Given the description of an element on the screen output the (x, y) to click on. 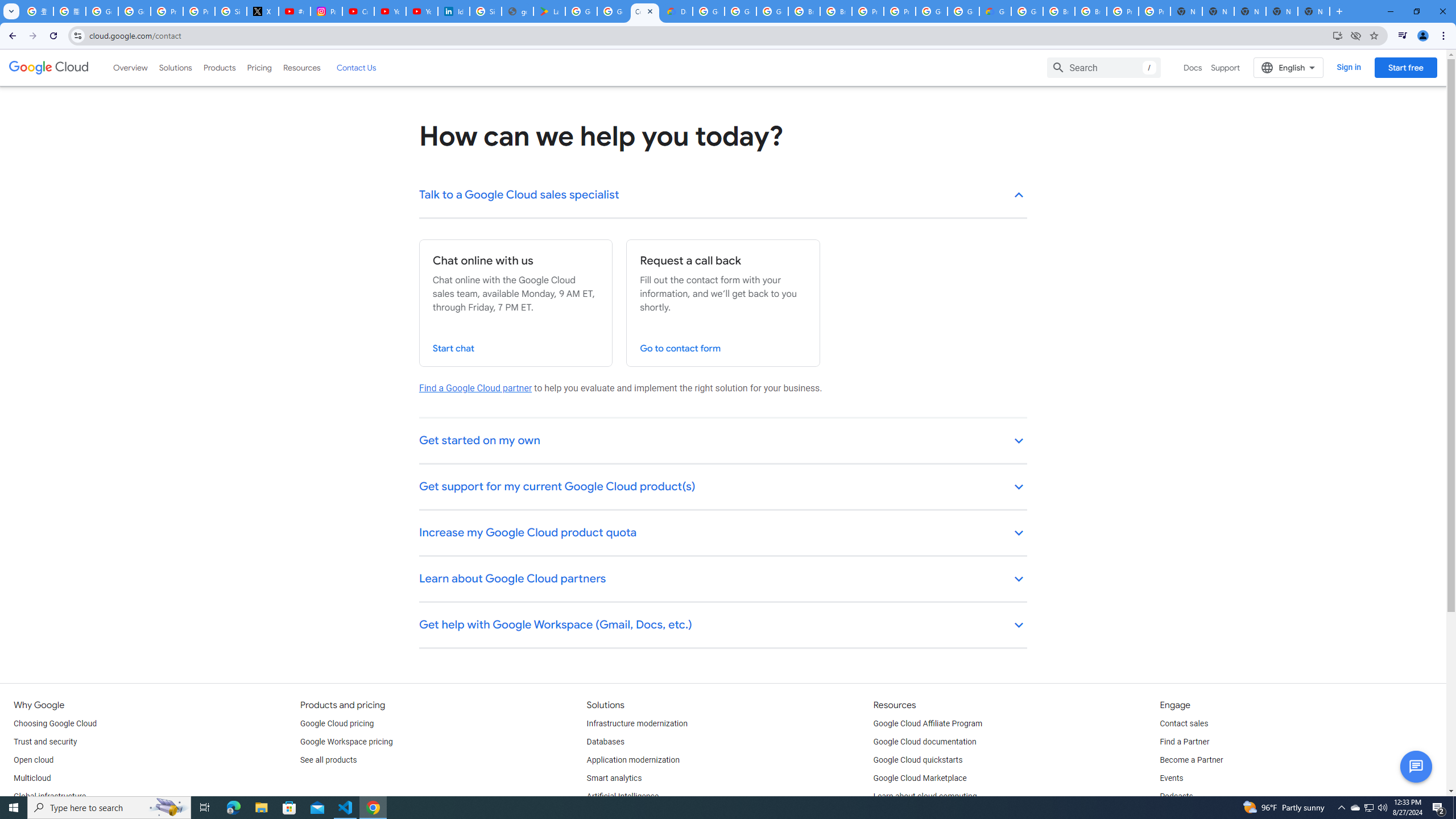
Google Cloud Affiliate Program (927, 723)
Choosing Google Cloud (55, 723)
Podcasts (1175, 796)
Artificial Intelligence (622, 796)
Google Workspace - Specific Terms (613, 11)
Support (1225, 67)
